Given the description of an element on the screen output the (x, y) to click on. 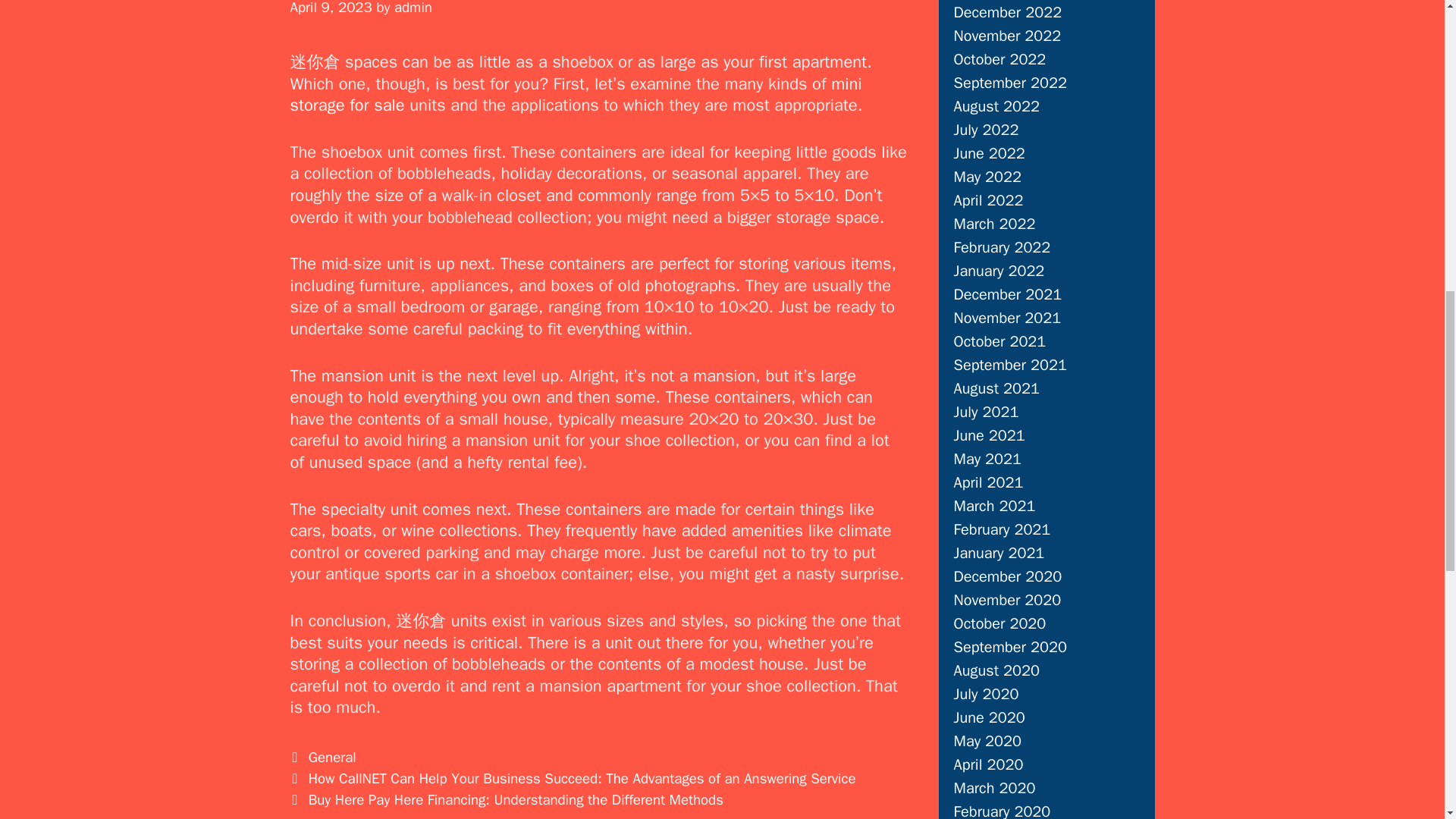
mini storage for sale (575, 95)
5:52 am (330, 8)
Next (505, 800)
April 9, 2023 (330, 8)
View all posts by admin (413, 8)
Previous (572, 778)
General (332, 757)
admin (413, 8)
